Given the description of an element on the screen output the (x, y) to click on. 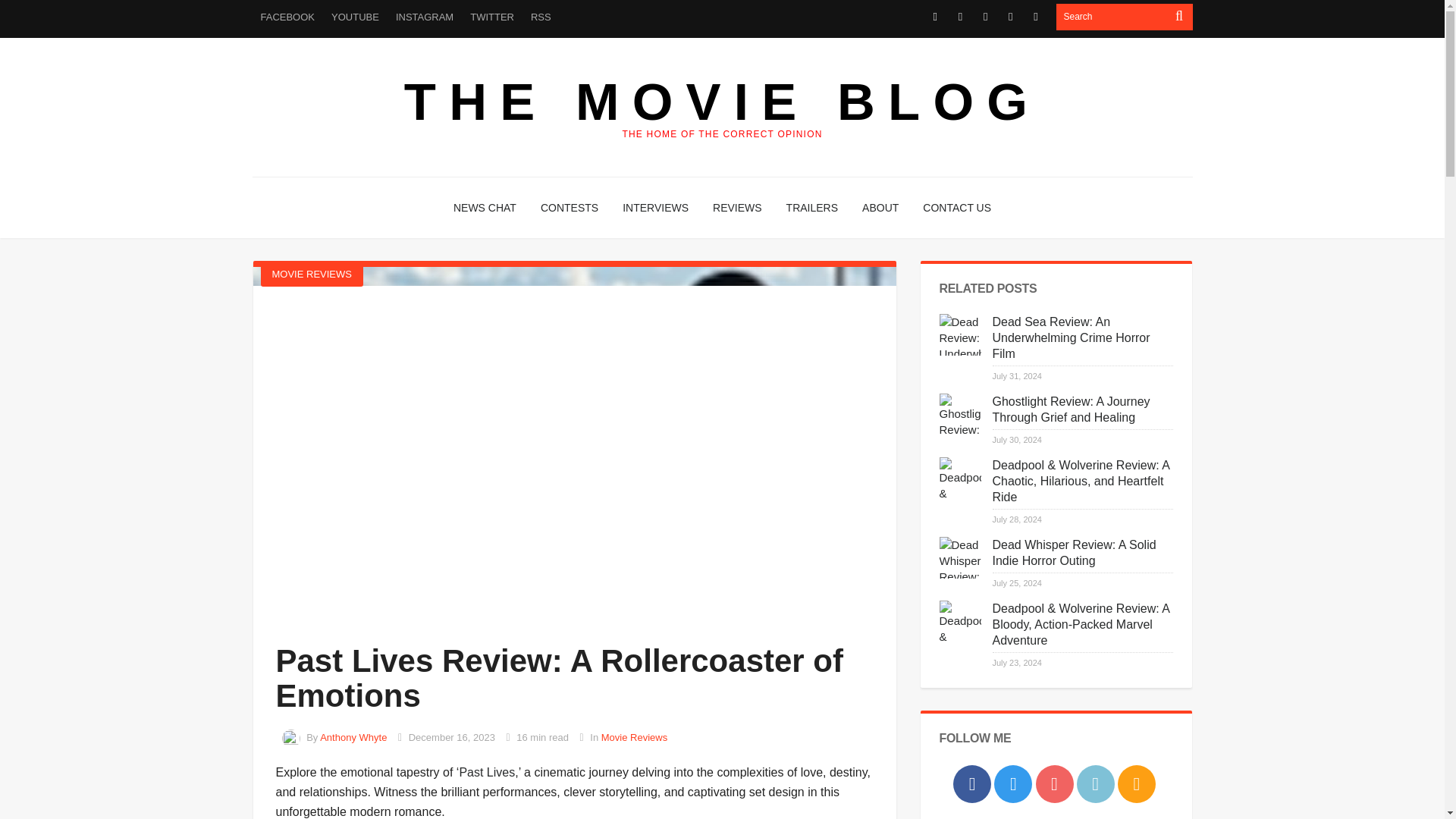
Twitter (960, 16)
Search (1111, 17)
NEWS CHAT (484, 207)
INSTAGRAM (424, 17)
TWITTER (491, 17)
CONTESTS (568, 207)
Search (1111, 17)
FACEBOOK (287, 17)
Facebook (935, 16)
RSS (540, 17)
Rss (1035, 16)
Reddit (1010, 16)
Youtube (984, 16)
YOUTUBE (355, 17)
THE MOVIE BLOG (722, 101)
